Given the description of an element on the screen output the (x, y) to click on. 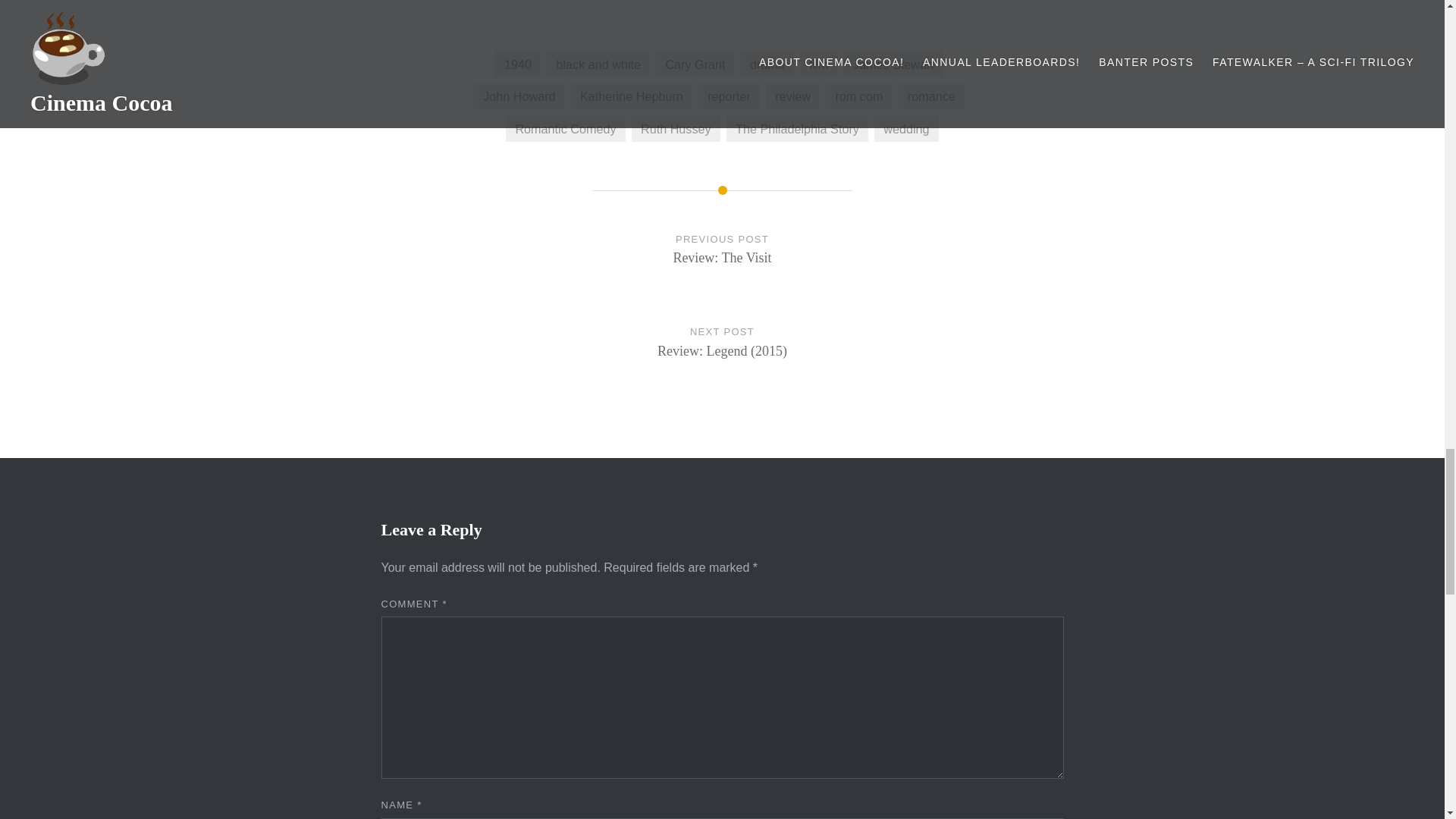
1940 (517, 63)
Katherine Hepburn (631, 95)
film (818, 63)
reporter (729, 95)
review (792, 95)
Ruth Hussey (722, 263)
drama (675, 128)
Romantic Comedy (767, 63)
black and white (564, 128)
